Given the description of an element on the screen output the (x, y) to click on. 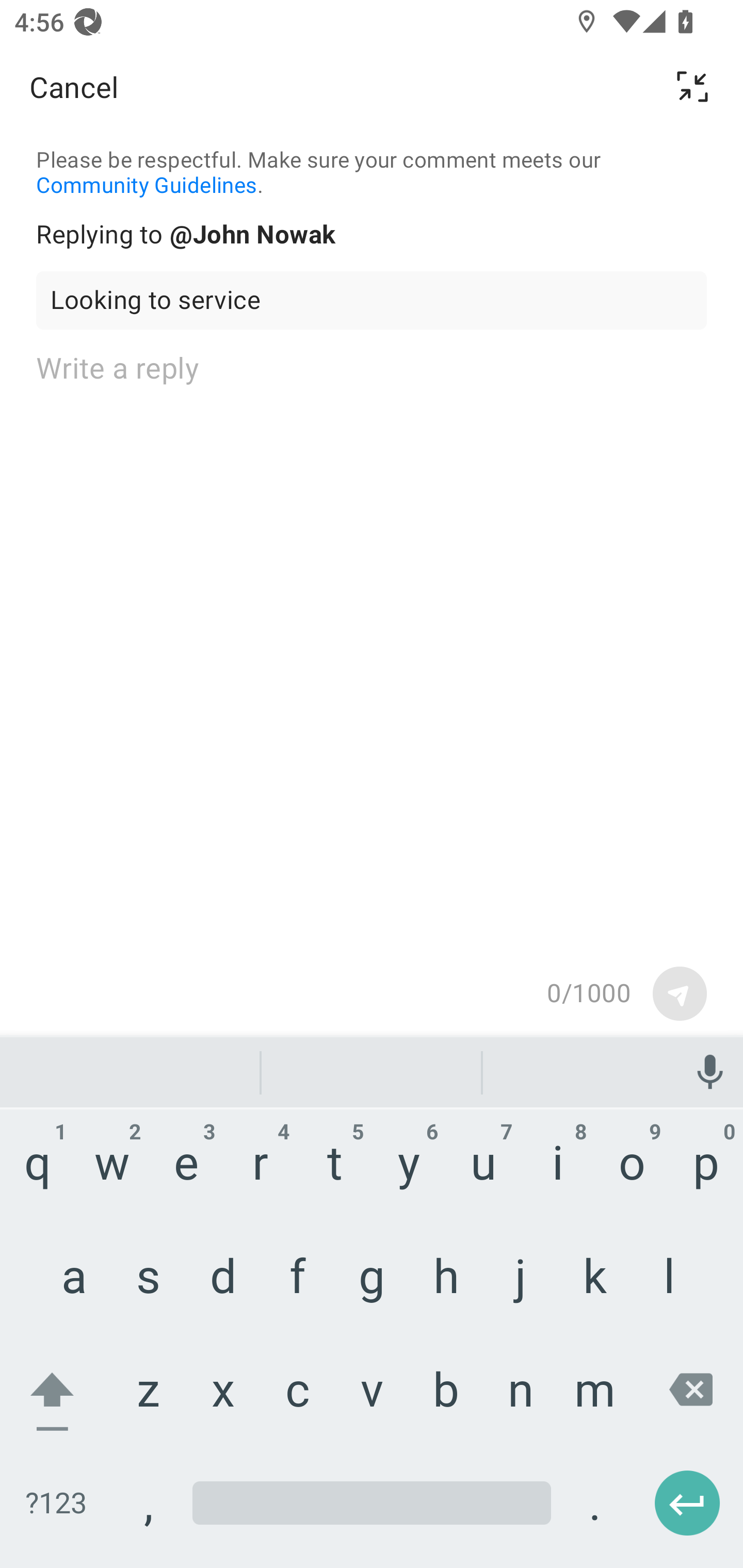
Cancel (73, 86)
Looking to service (371, 300)
Write a reply (371, 649)
